Given the description of an element on the screen output the (x, y) to click on. 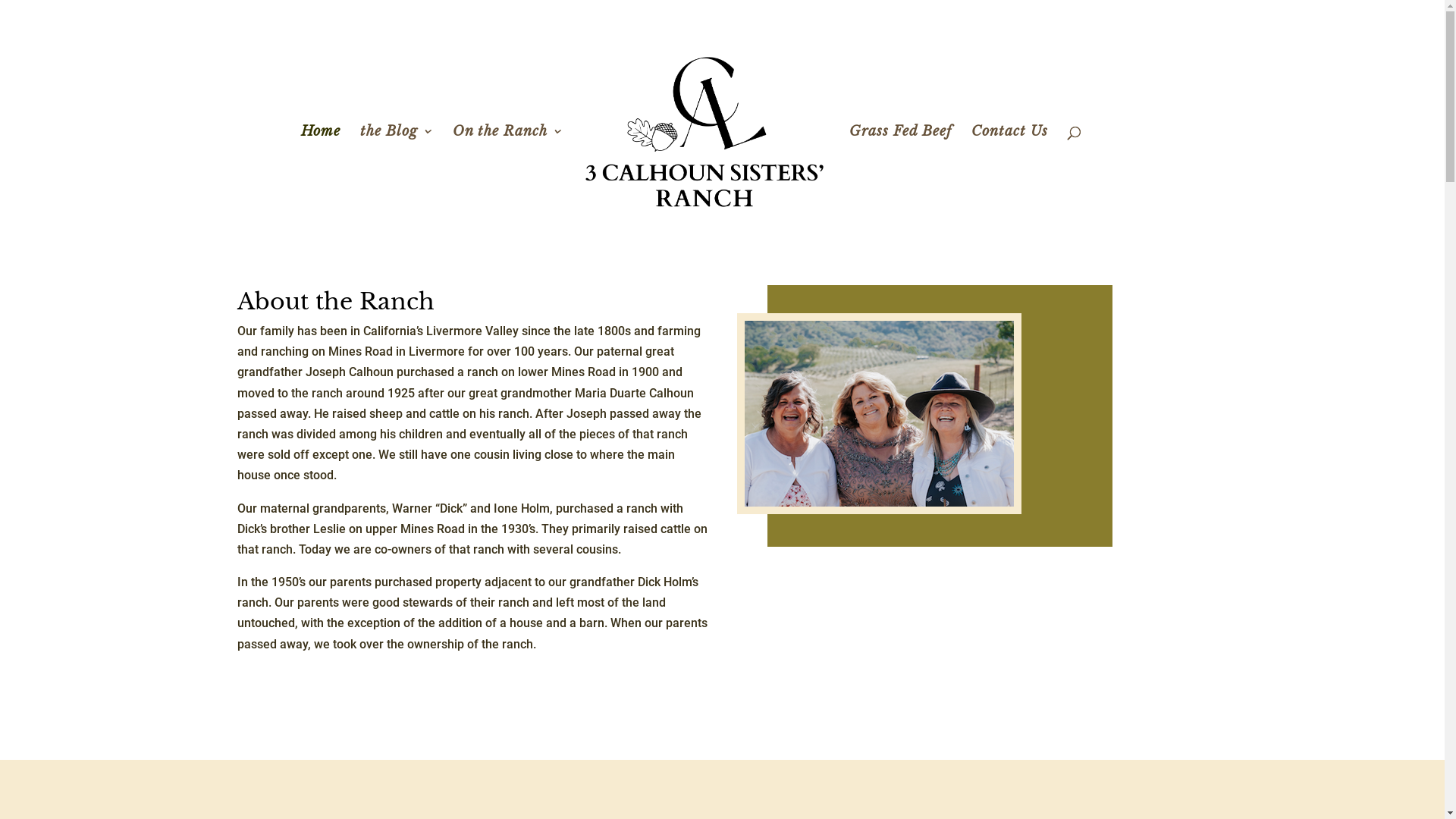
On the Ranch Element type: text (507, 168)
Contact Us Element type: text (1009, 168)
the Blog Element type: text (396, 168)
Grass Fed Beef Element type: text (900, 168)
Home Element type: text (320, 168)
Nancy Merry Susie April 2021 Element type: hover (878, 413)
